Given the description of an element on the screen output the (x, y) to click on. 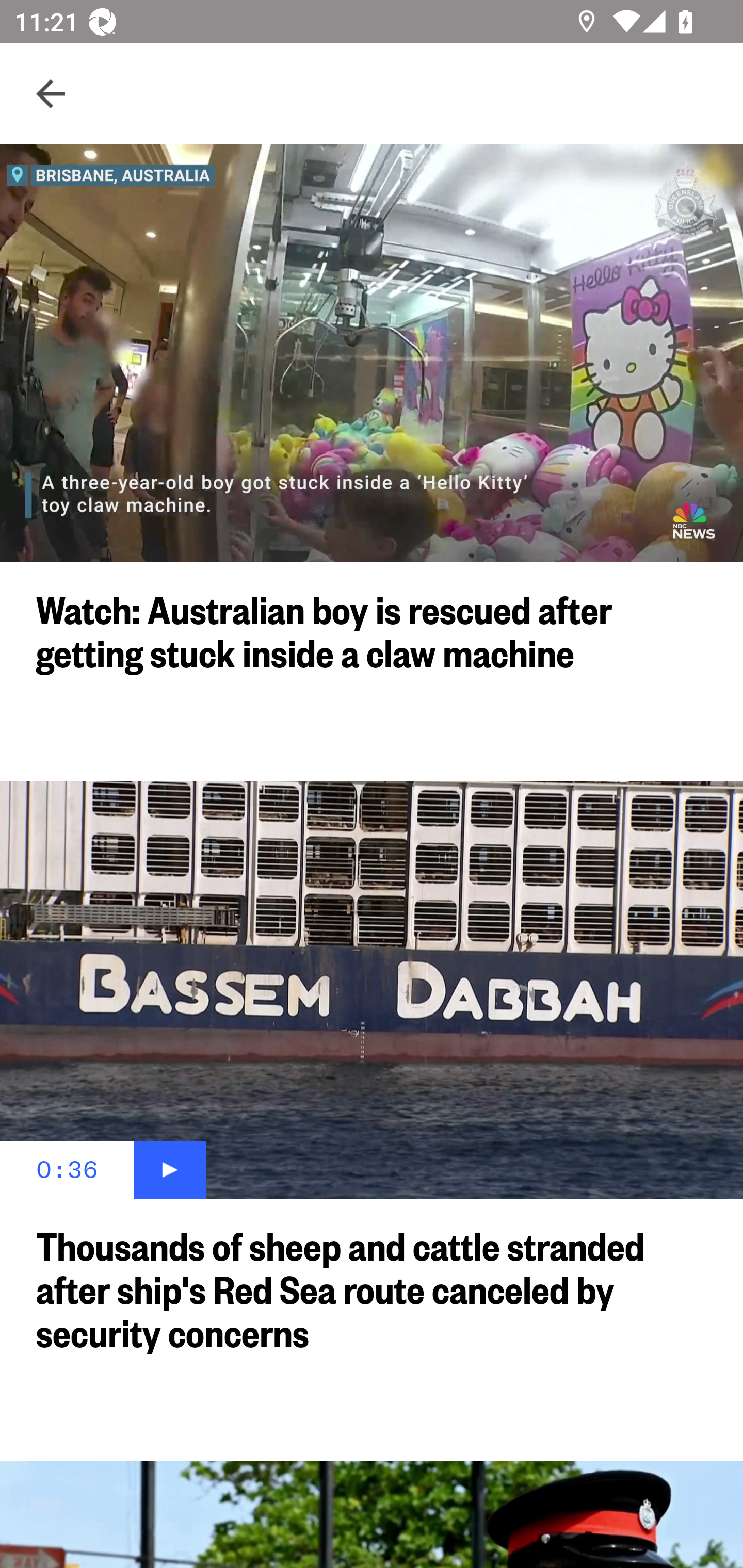
Navigate up (50, 93)
